Given the description of an element on the screen output the (x, y) to click on. 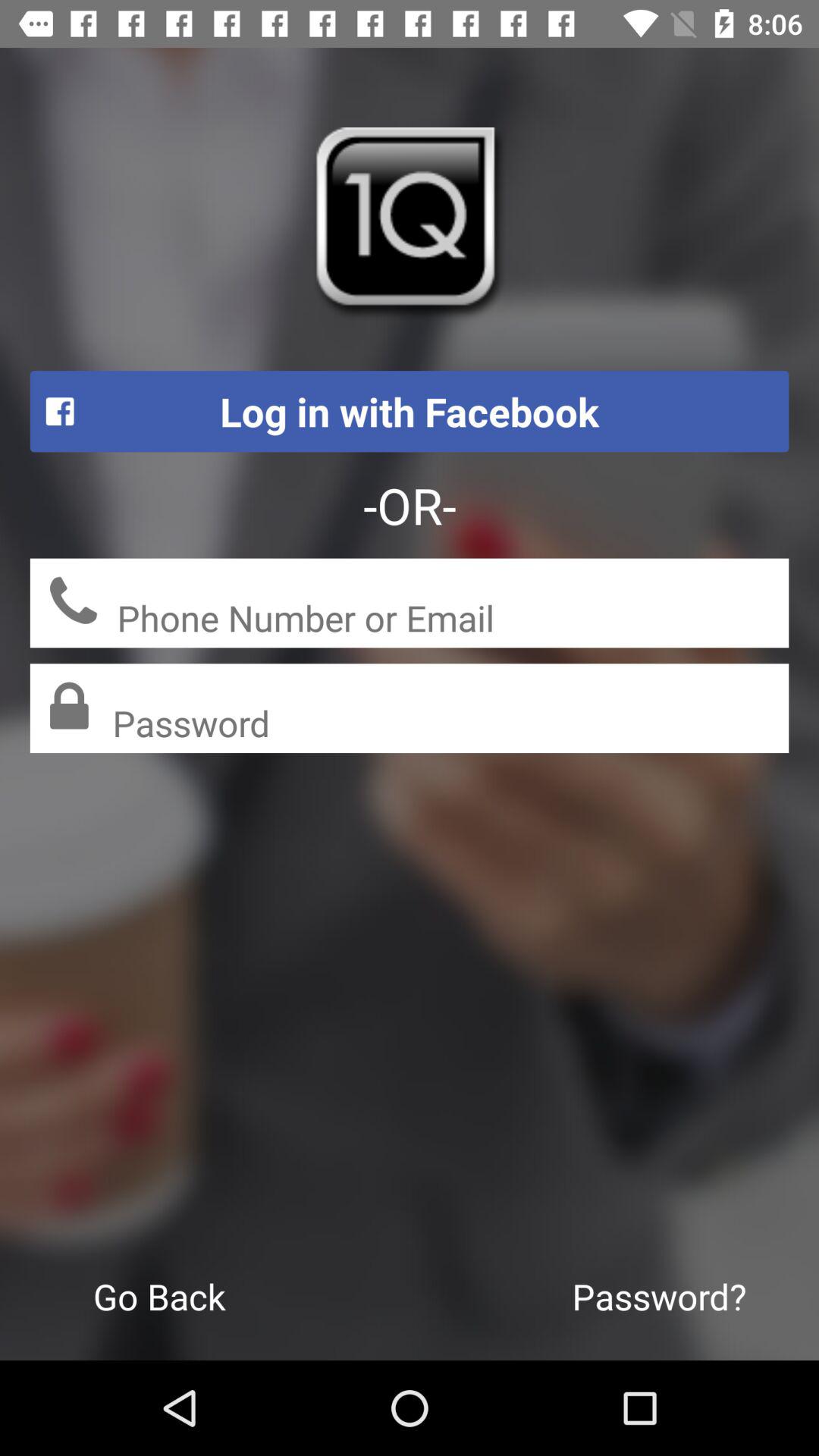
swipe until go back icon (159, 1296)
